Given the description of an element on the screen output the (x, y) to click on. 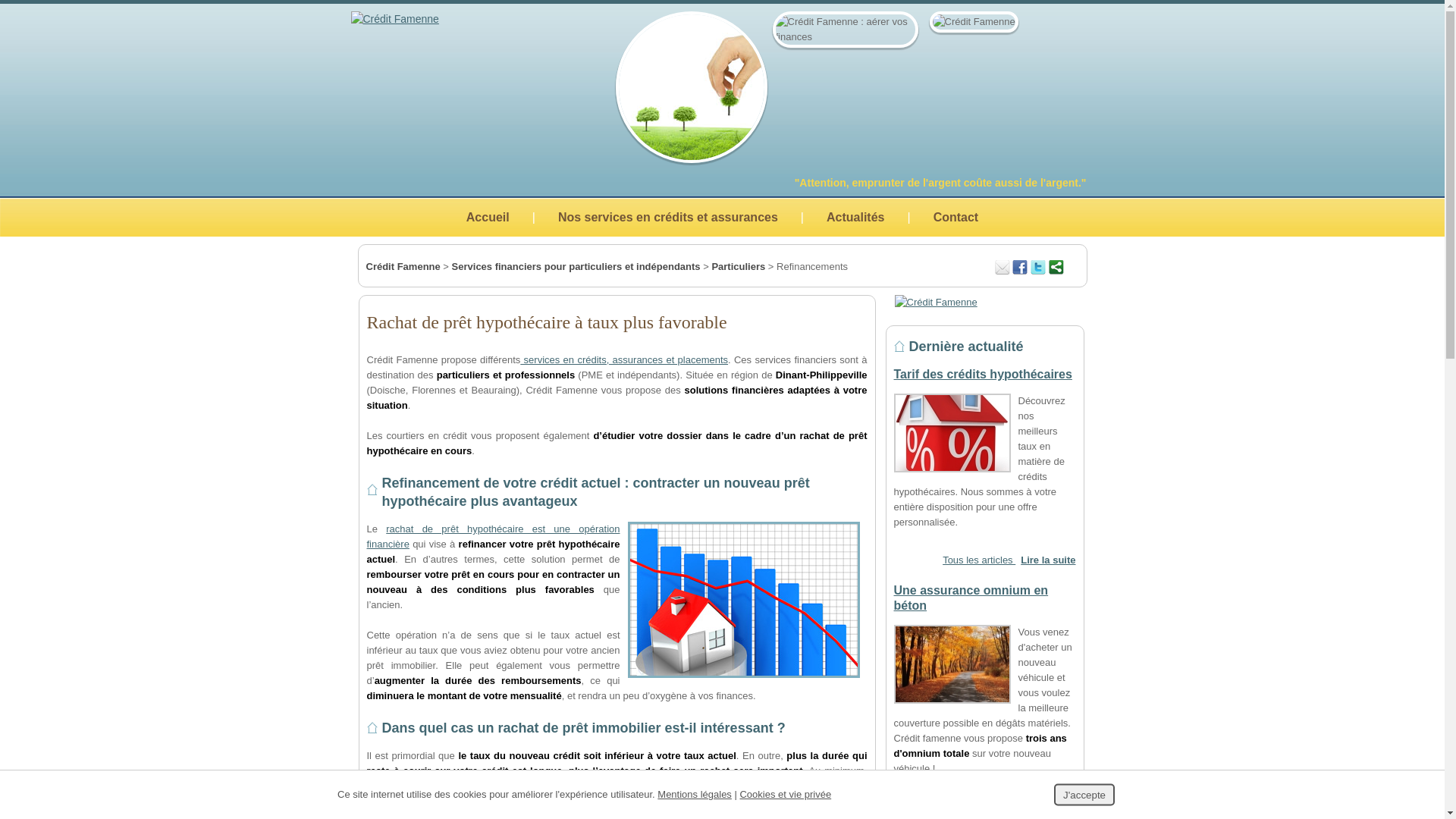
Lire la suite Element type: text (1047, 806)
Contact Element type: text (956, 216)
Accueil Element type: text (487, 216)
Lire la suite Element type: text (1047, 559)
Particuliers Element type: text (738, 266)
Tous les articles Element type: text (978, 806)
Tous les articles Element type: text (978, 559)
